Given the description of an element on the screen output the (x, y) to click on. 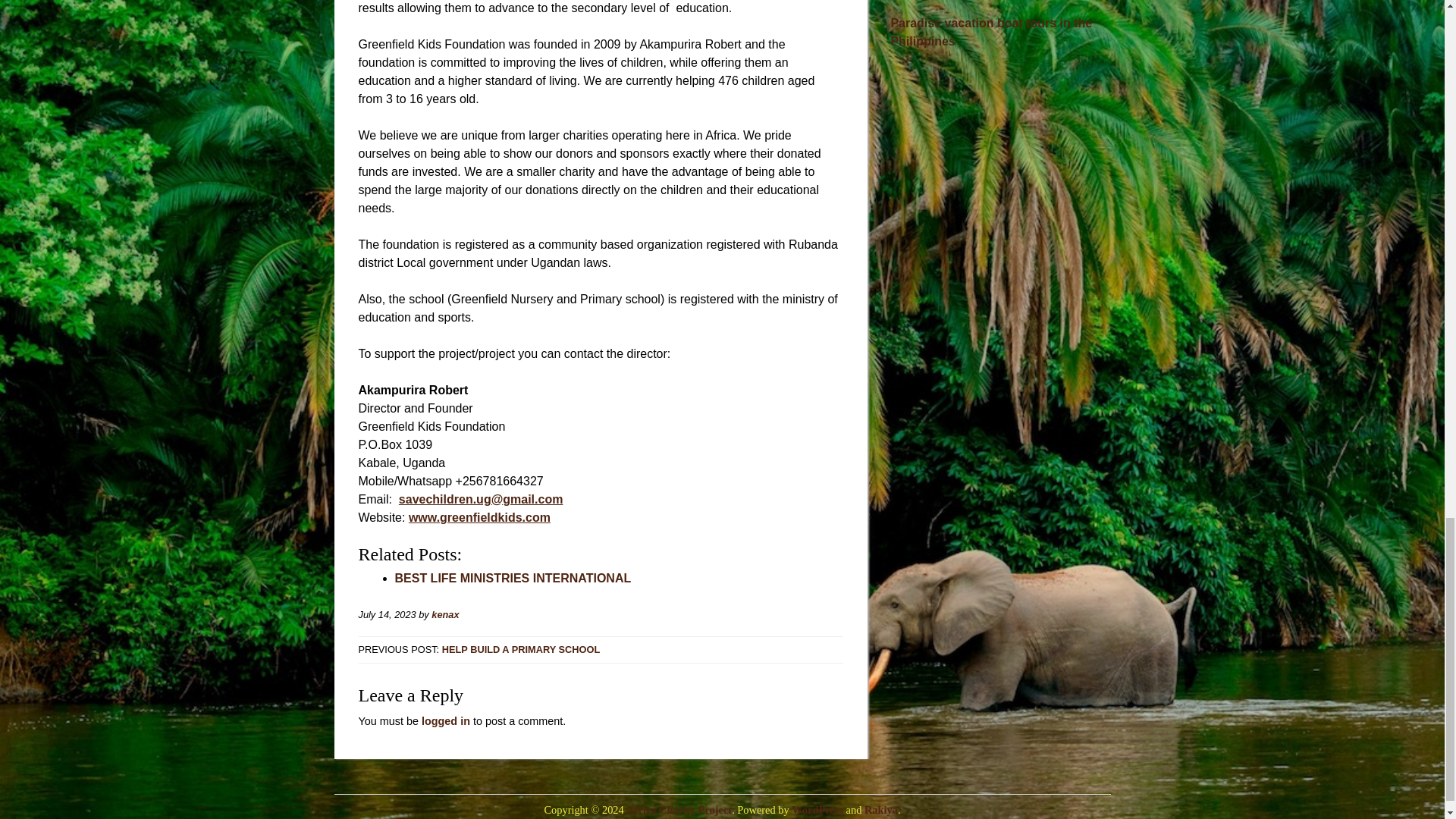
BEST LIFE MINISTRIES INTERNATIONAL (512, 577)
logged in (446, 720)
Posts by kenax (444, 614)
HELP BUILD A PRIMARY SCHOOL (520, 649)
Friday, Jul 14, 2023, 2:17 am (386, 614)
WordPress (817, 809)
www.greenfieldkids.com (479, 517)
Paradise vacation boat tours in the Philippines (990, 31)
Africa Charity Project (679, 809)
Rakiya (881, 809)
kenax (444, 614)
